Given the description of an element on the screen output the (x, y) to click on. 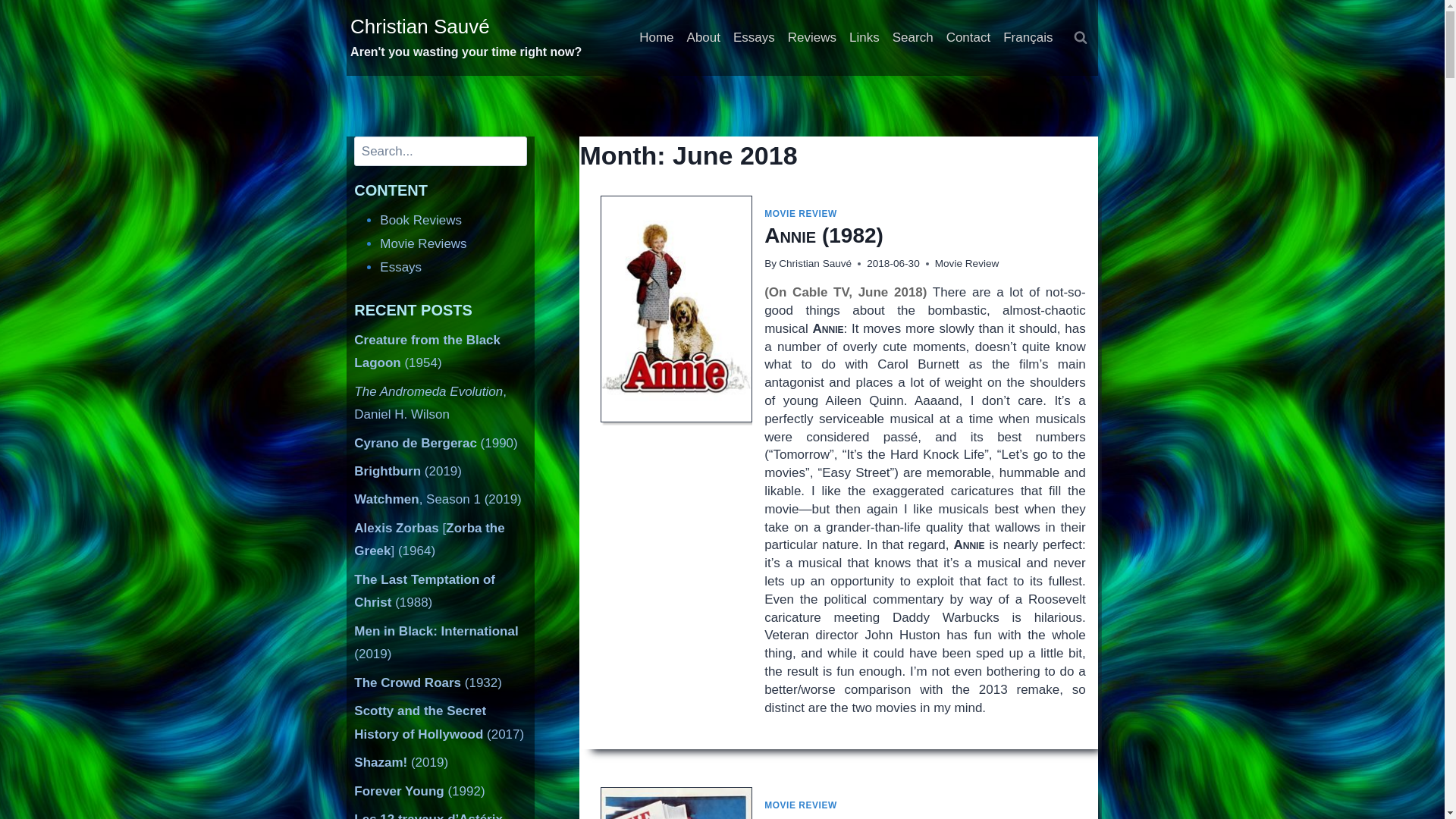
Reviews (811, 38)
MOVIE REVIEW (800, 805)
Movie Review (966, 263)
Search (912, 38)
Essays (753, 38)
About (702, 38)
Home (656, 38)
Contact (968, 38)
Links (864, 38)
MOVIE REVIEW (800, 213)
